Given the description of an element on the screen output the (x, y) to click on. 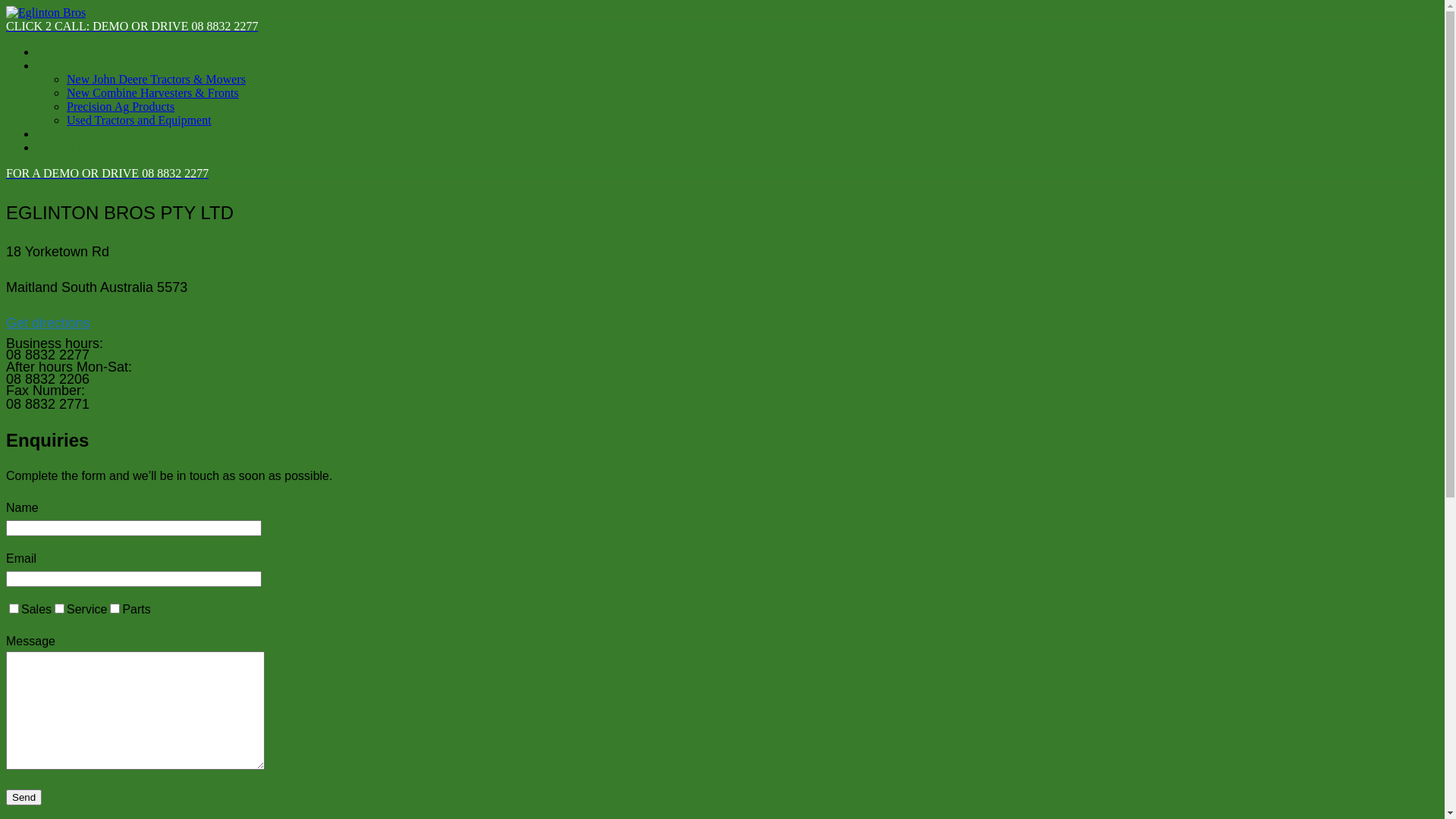
New John Deere Tractors & Mowers Element type: text (155, 78)
New Combine Harvesters & Fronts Element type: text (152, 92)
Get directions Element type: text (48, 322)
FOR A DEMO OR DRIVE 08 8832 2277 Element type: text (722, 173)
New/Used Machinery Element type: text (89, 65)
Precision Ag Products Element type: text (120, 106)
Send Element type: text (23, 797)
Other Brands Element type: text (68, 133)
Used Tractors and Equipment Element type: text (138, 119)
Home Element type: text (50, 51)
Contact Us Element type: text (63, 147)
CLICK 2 CALL: DEMO OR DRIVE 08 8832 2277 Element type: text (722, 26)
